Given the description of an element on the screen output the (x, y) to click on. 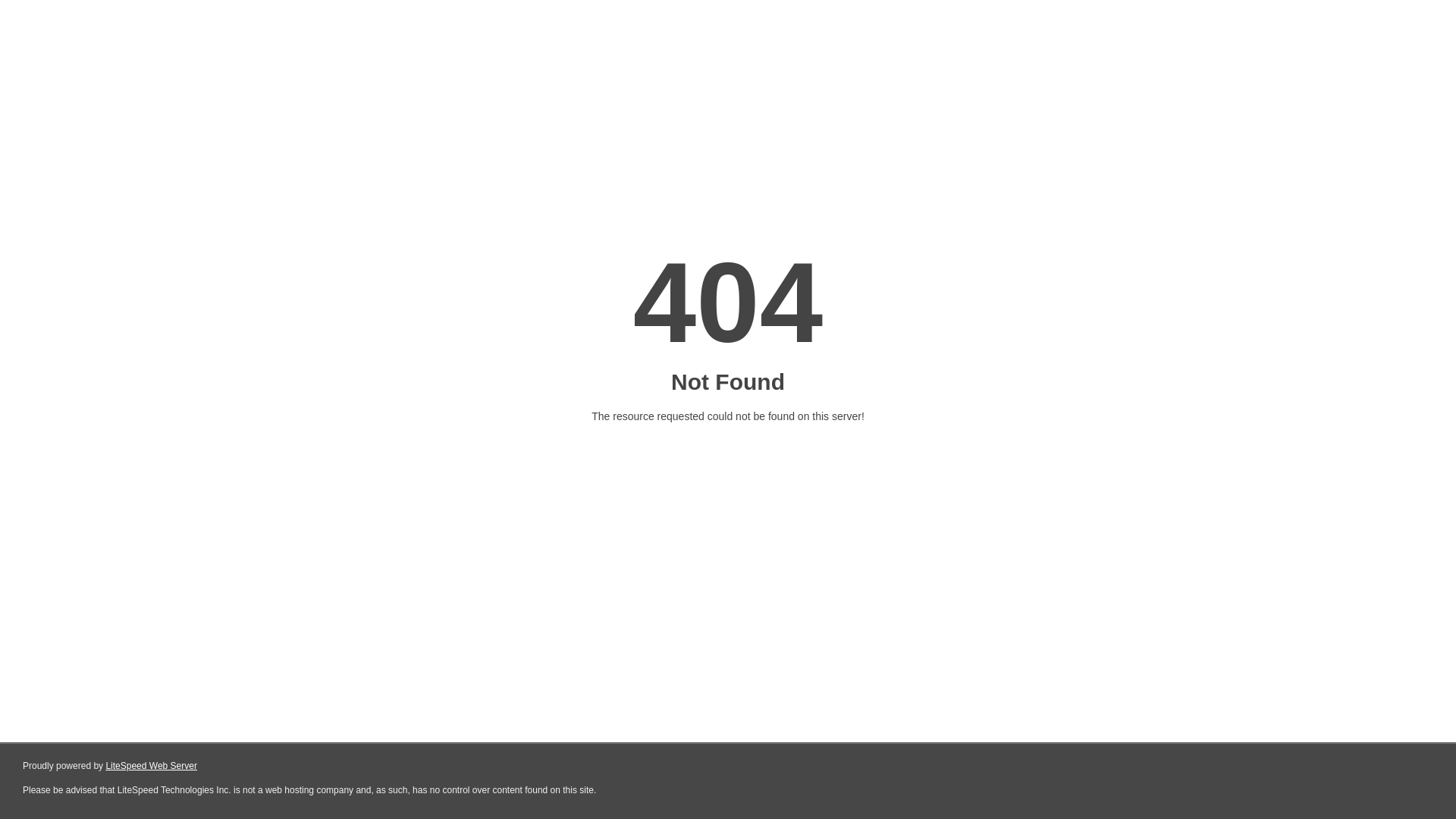
LiteSpeed Web Server Element type: text (151, 765)
